Given the description of an element on the screen output the (x, y) to click on. 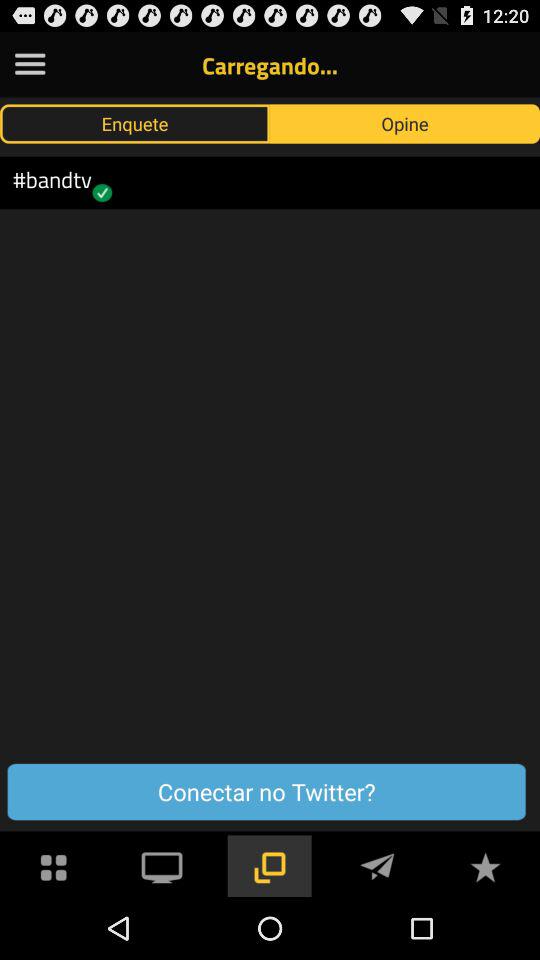
select app above #bandtv (135, 123)
